Given the description of an element on the screen output the (x, y) to click on. 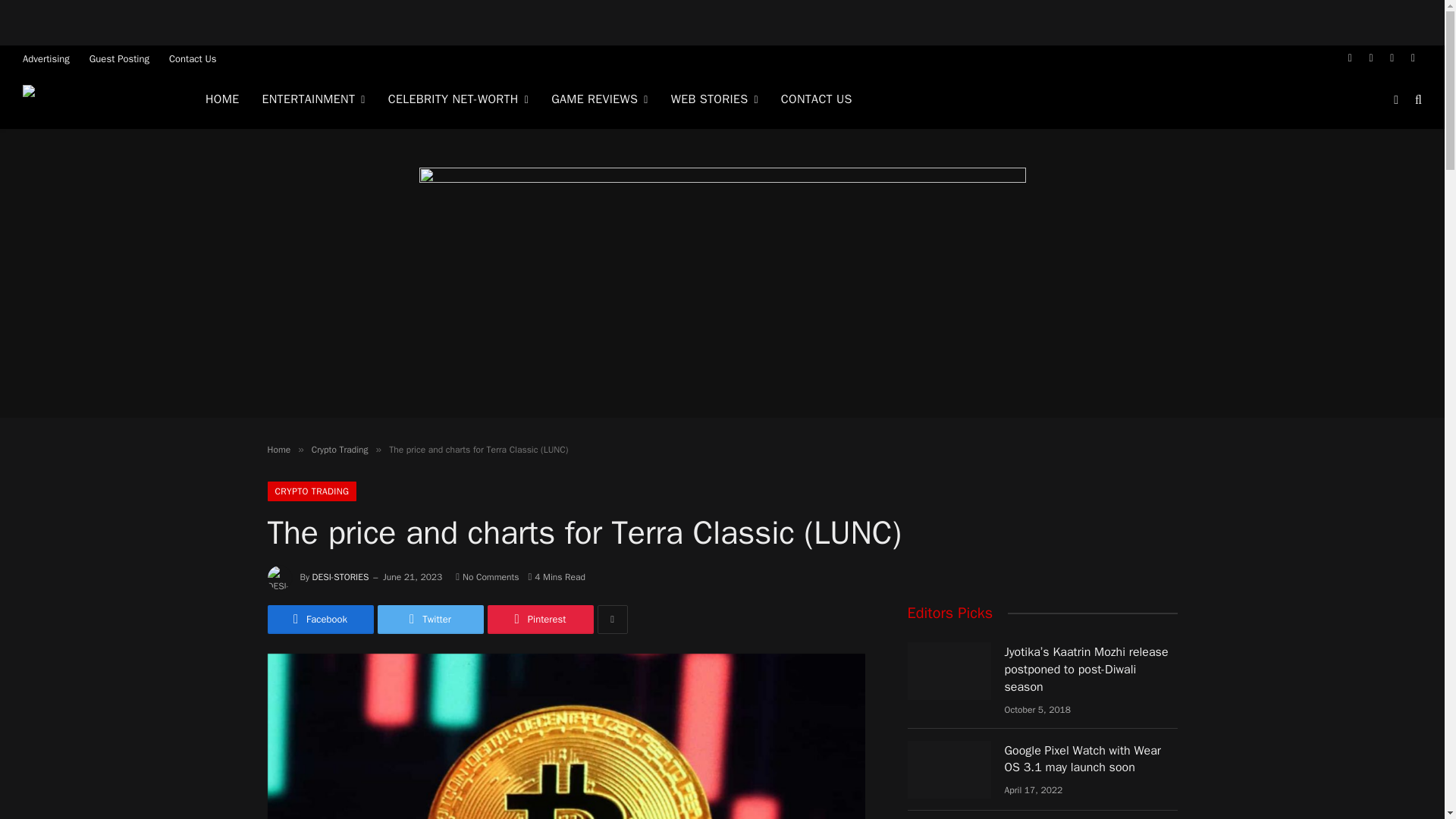
HOME (221, 99)
Advertising (46, 58)
Guest Posting (119, 58)
ENTERTAINMENT (312, 99)
Contact Us (192, 58)
Desinema (95, 99)
CELEBRITY NET-WORTH (458, 99)
